Given the description of an element on the screen output the (x, y) to click on. 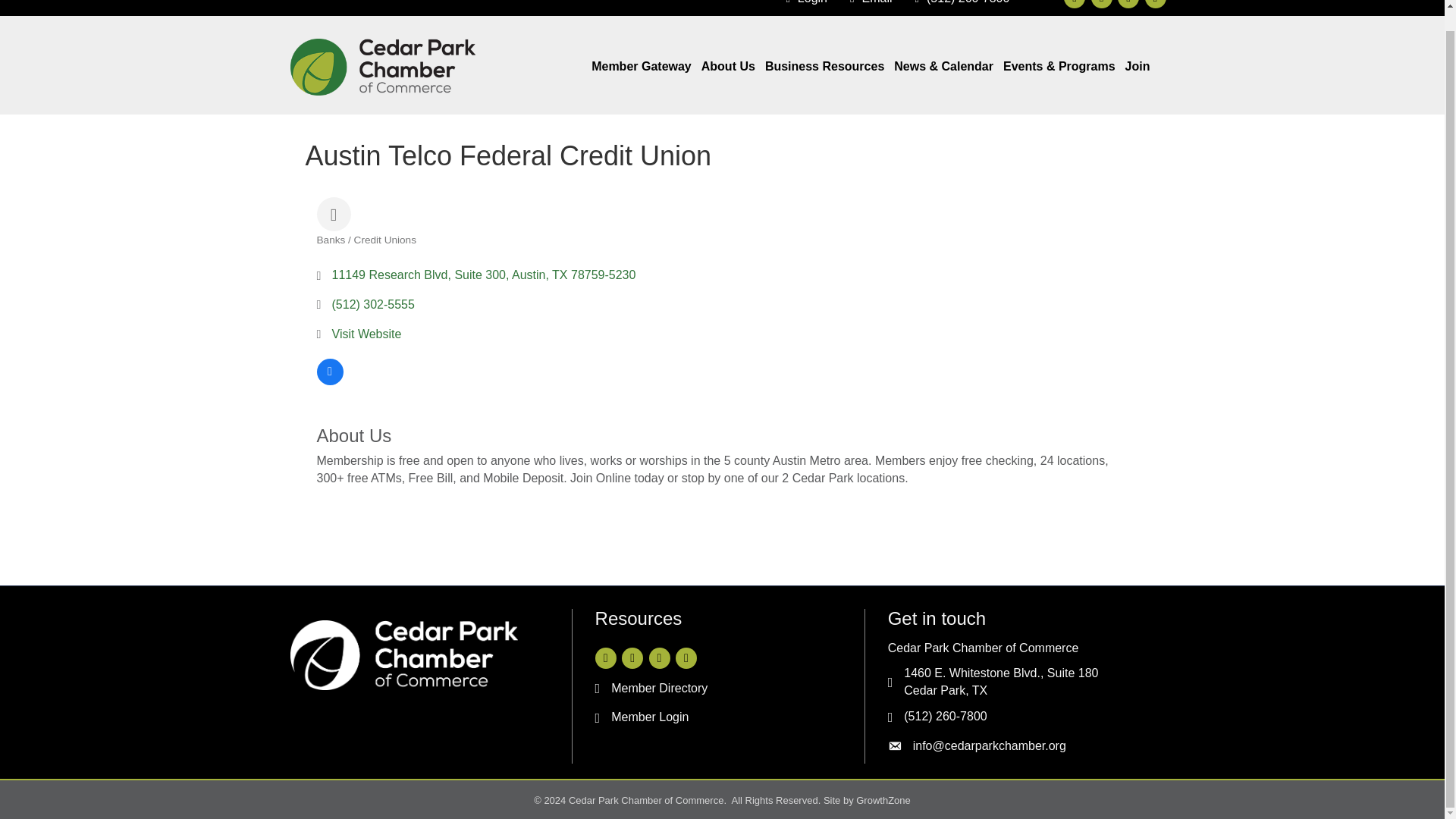
Member Gateway (640, 66)
View on Facebook (330, 380)
Login (802, 3)
Email (867, 3)
About Us (728, 66)
Business Resources (824, 66)
